Given the description of an element on the screen output the (x, y) to click on. 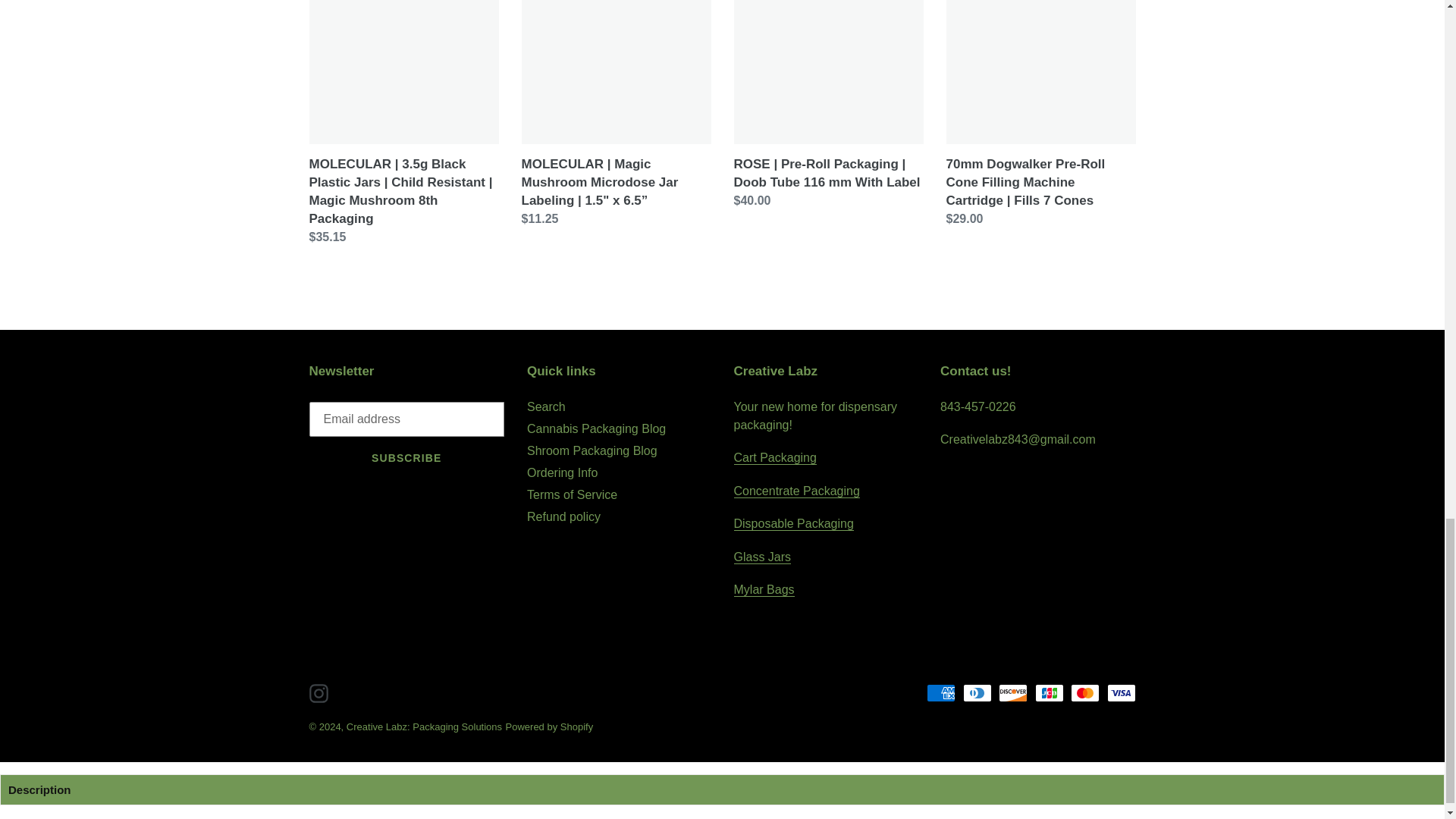
Concentrate Packaging (796, 490)
Cartridge Packaging (774, 458)
Disposable Packaging (793, 523)
